Given the description of an element on the screen output the (x, y) to click on. 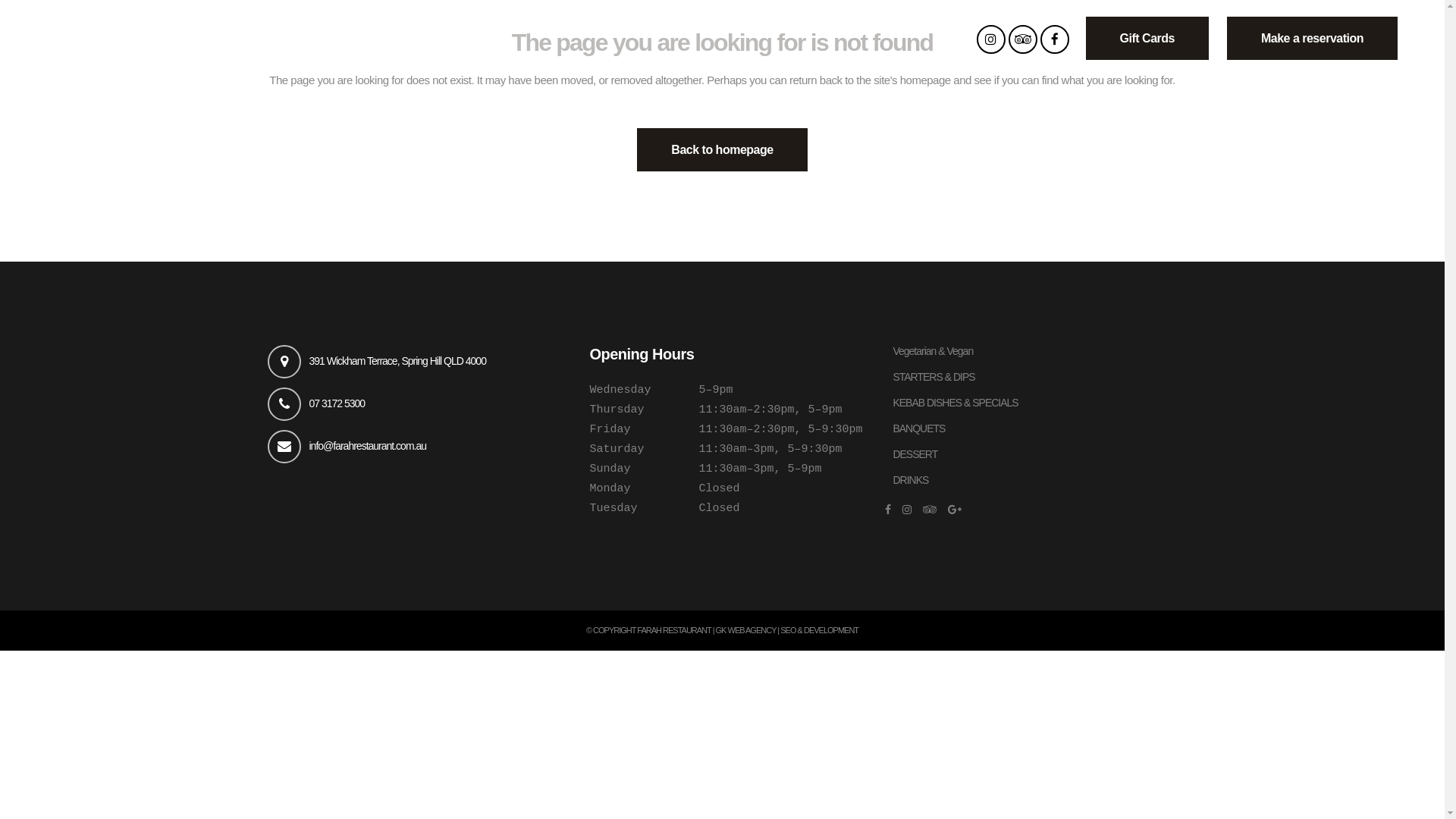
BANQUETS Element type: text (1034, 428)
DESSERT Element type: text (1034, 454)
391 Wickham Terrace, Spring Hill QLD 4000 Element type: text (397, 360)
Back to homepage Element type: text (721, 149)
07 3172 5300 Element type: text (337, 403)
STARTERS & DIPS Element type: text (1034, 376)
KEBAB DISHES & SPECIALS Element type: text (1034, 402)
info@farahrestaurant.com.au Element type: text (367, 445)
& DEVELOPMENT Element type: text (828, 629)
Gift Cards Element type: text (1146, 37)
SEO Element type: text (787, 629)
Vegetarian & Vegan Element type: text (1034, 351)
GK WEB AGENCY Element type: text (745, 629)
Make a reservation Element type: text (1311, 37)
DRINKS Element type: text (1034, 479)
